Given the description of an element on the screen output the (x, y) to click on. 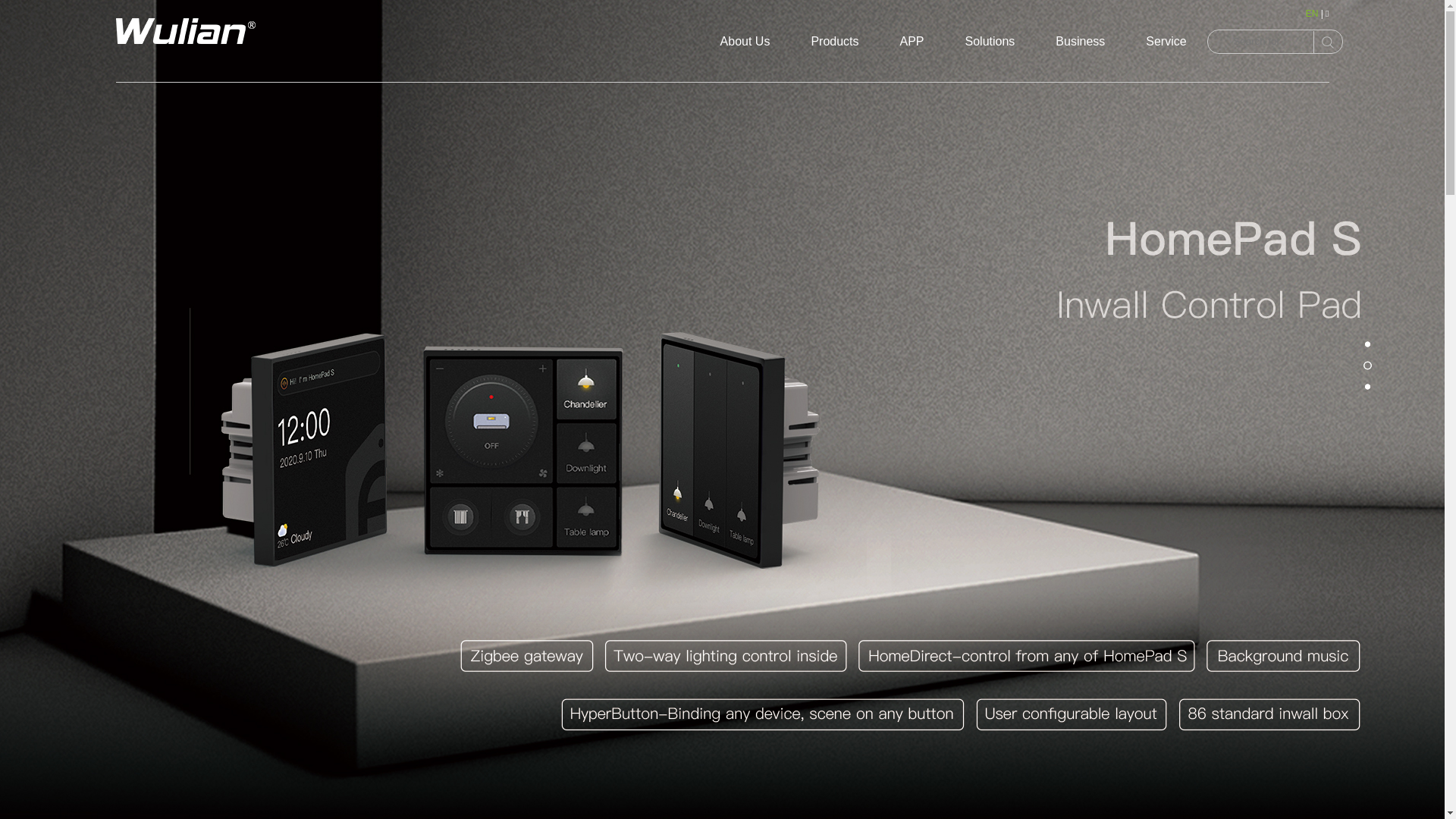
Service Element type: text (1165, 40)
About Us Element type: text (745, 40)
Business Element type: text (1079, 40)
3 Element type: text (1367, 386)
Solutions Element type: text (990, 40)
Products Element type: text (834, 40)
EN Element type: text (1311, 13)
1 Element type: text (1367, 343)
2 Element type: text (1367, 365)
APP Element type: text (912, 40)
